Given the description of an element on the screen output the (x, y) to click on. 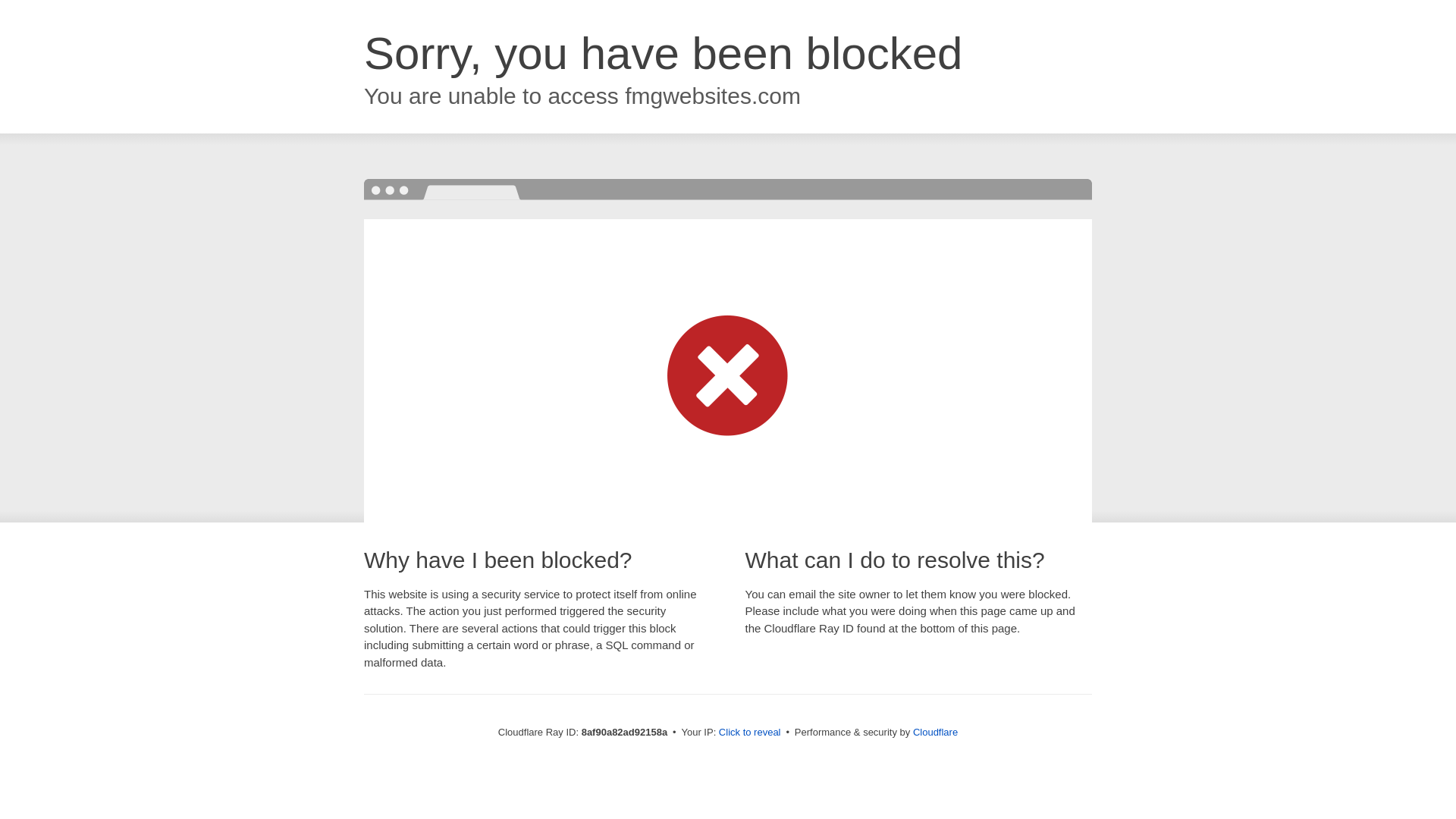
Click to reveal (749, 732)
Cloudflare (935, 731)
